Given the description of an element on the screen output the (x, y) to click on. 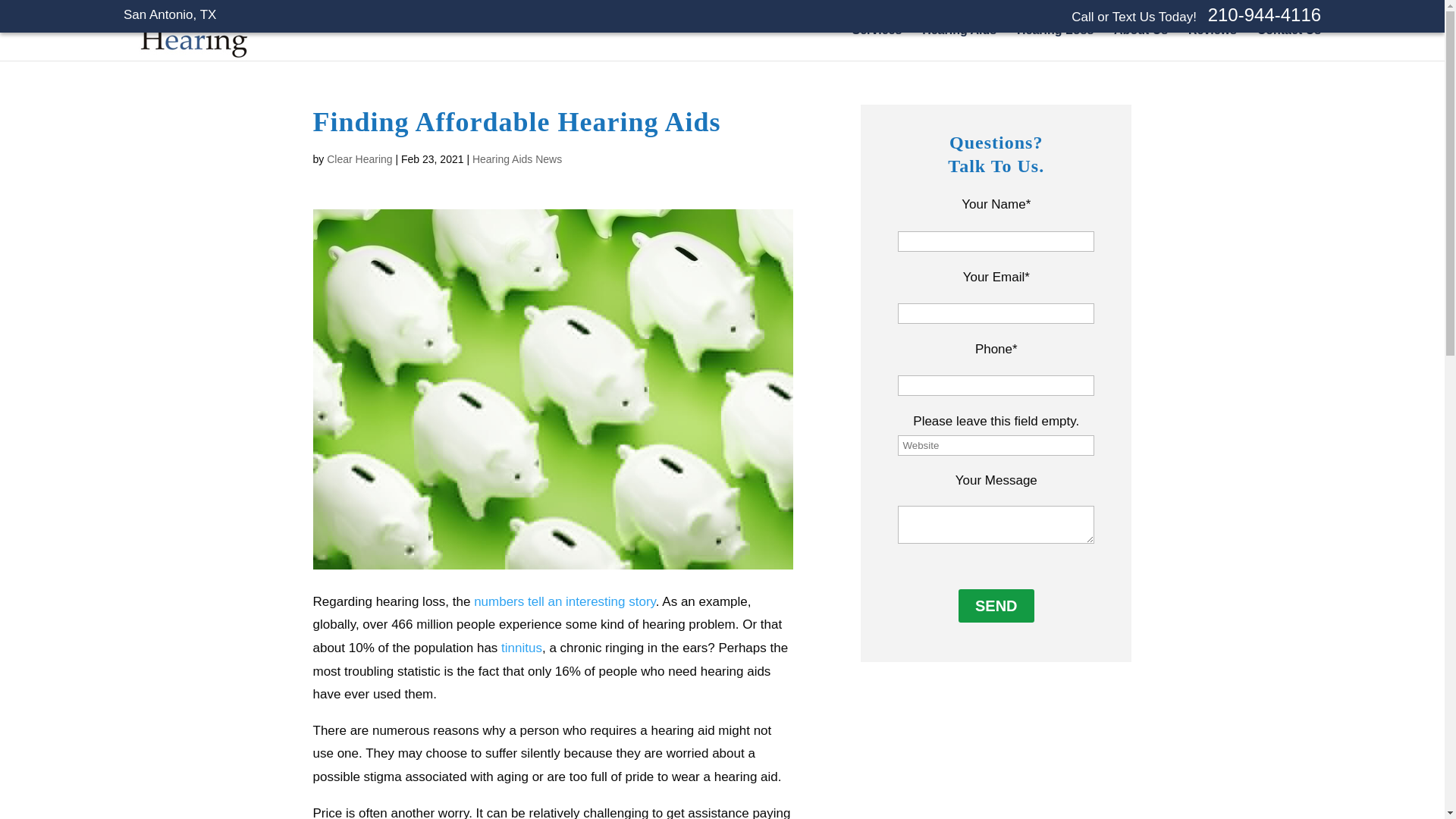
Clear Hearing (358, 159)
numbers tell an interesting story (565, 601)
Clear Hearing (192, 54)
Send (995, 605)
210-944-4116 (1264, 14)
Posts by Clear Hearing (358, 159)
Contact Us (1288, 36)
Send (995, 605)
tinnitus (520, 647)
Reviews (1212, 42)
